Given the description of an element on the screen output the (x, y) to click on. 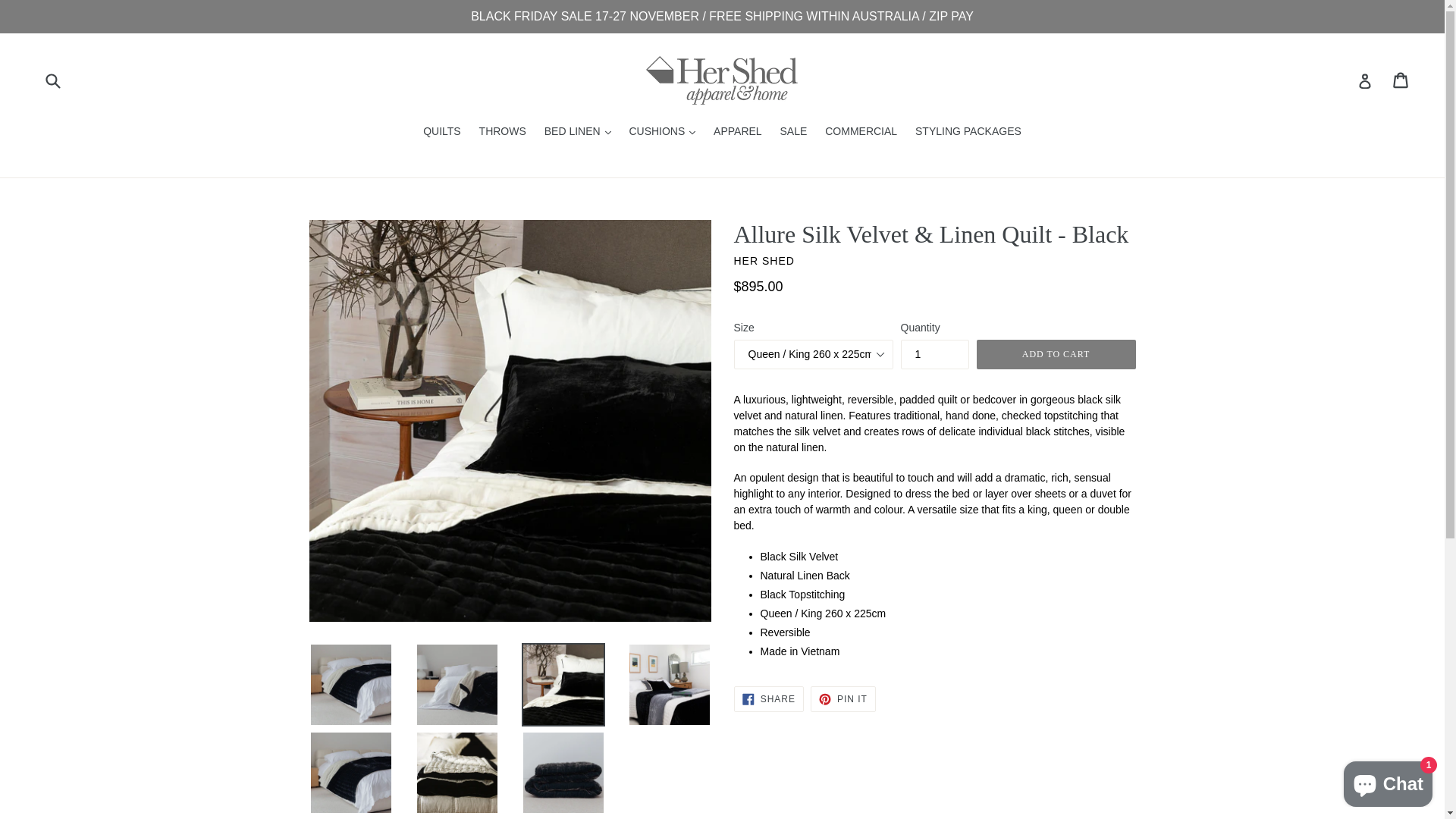
Submit Element type: text (51, 80)
QUILTS Element type: text (441, 132)
Shopify online store chat Element type: hover (1388, 780)
ADD TO CART Element type: text (1055, 354)
PIN IT
PIN ON PINTEREST Element type: text (842, 698)
SALE Element type: text (793, 132)
Log in Element type: text (1364, 80)
SHARE
SHARE ON FACEBOOK Element type: text (768, 698)
APPAREL Element type: text (737, 132)
STYLING PACKAGES Element type: text (968, 132)
COMMERCIAL Element type: text (860, 132)
THROWS Element type: text (502, 132)
Cart
Cart Element type: text (1401, 79)
